Given the description of an element on the screen output the (x, y) to click on. 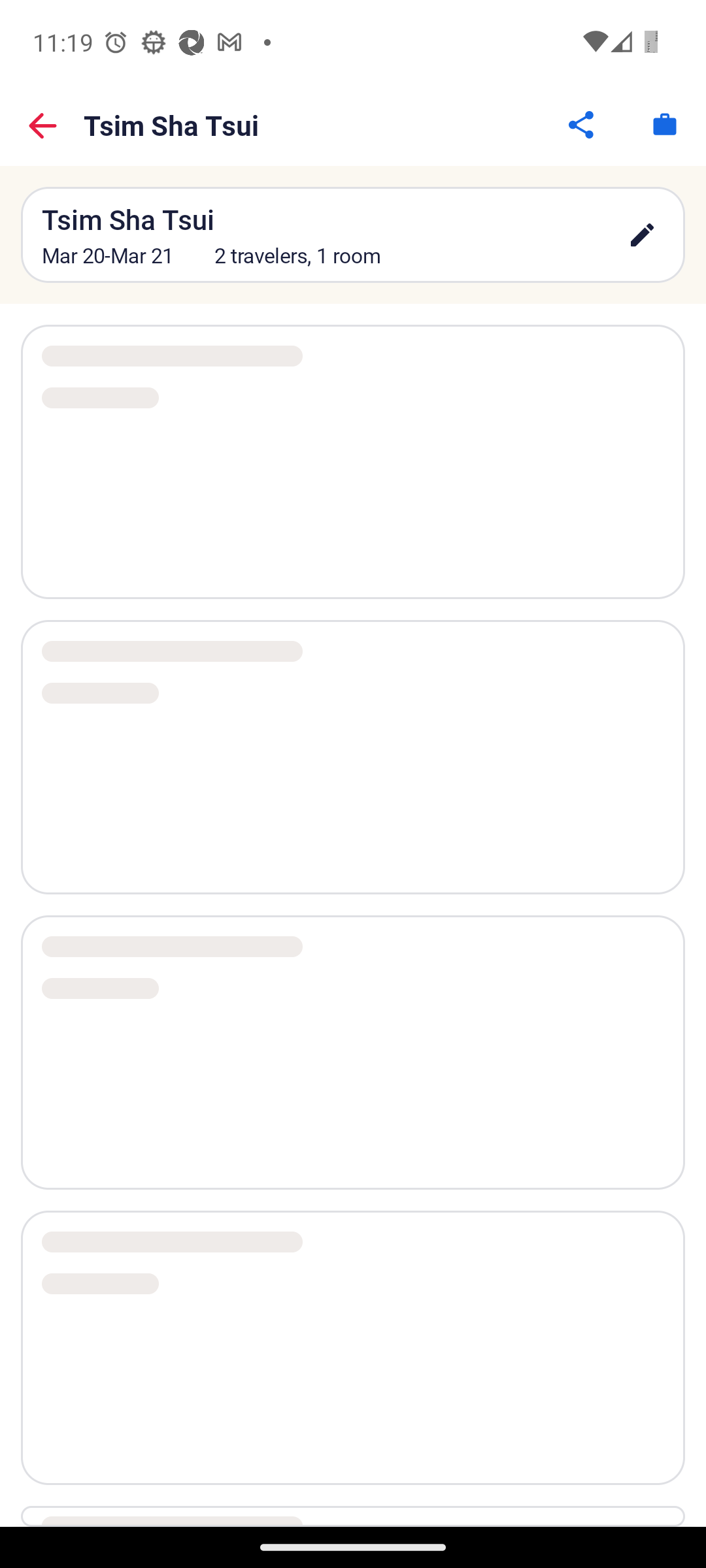
Share Button (582, 124)
Trips. Button (664, 124)
